Given the description of an element on the screen output the (x, y) to click on. 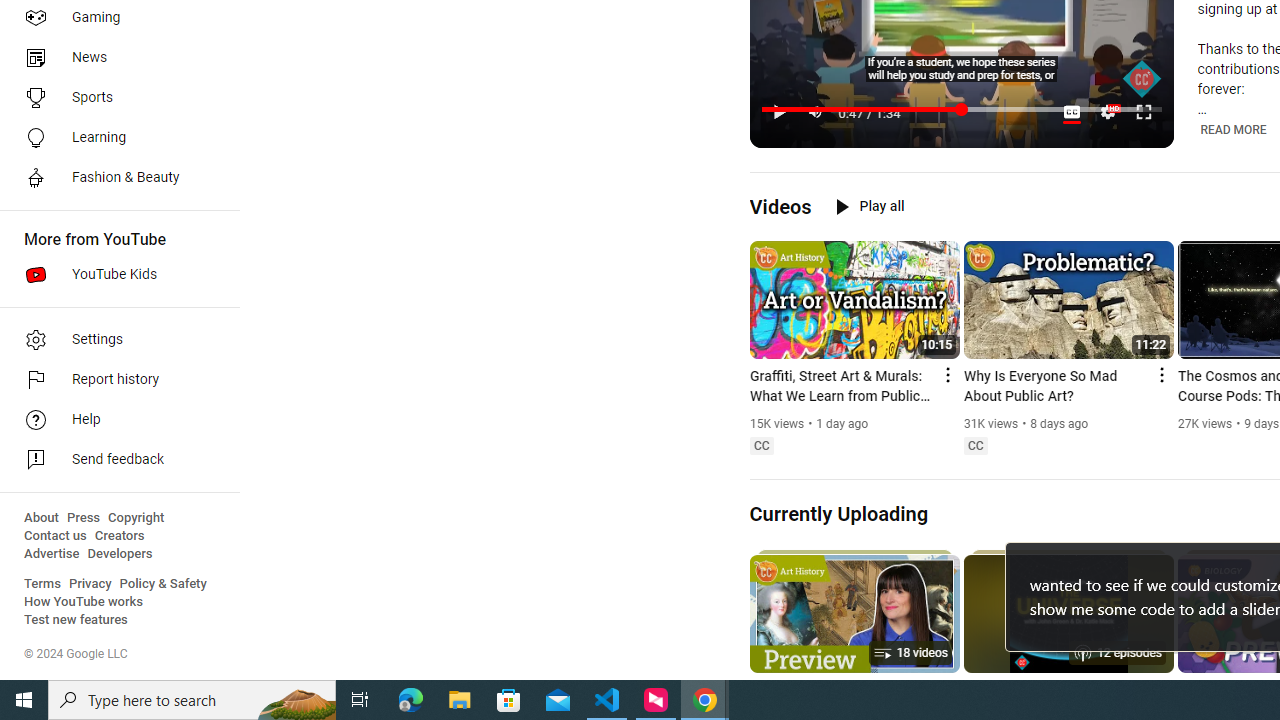
Channel watermark (1141, 79)
Creators (118, 536)
Policy & Safety (163, 584)
Copyright (136, 518)
READ MORE (1232, 129)
Mute (m) (815, 112)
Videos (779, 206)
Report history (113, 380)
Channel watermark (1141, 79)
Pause (k) (779, 112)
How YouTube works (83, 602)
Press (83, 518)
Advertise (51, 554)
Developers (120, 554)
